Given the description of an element on the screen output the (x, y) to click on. 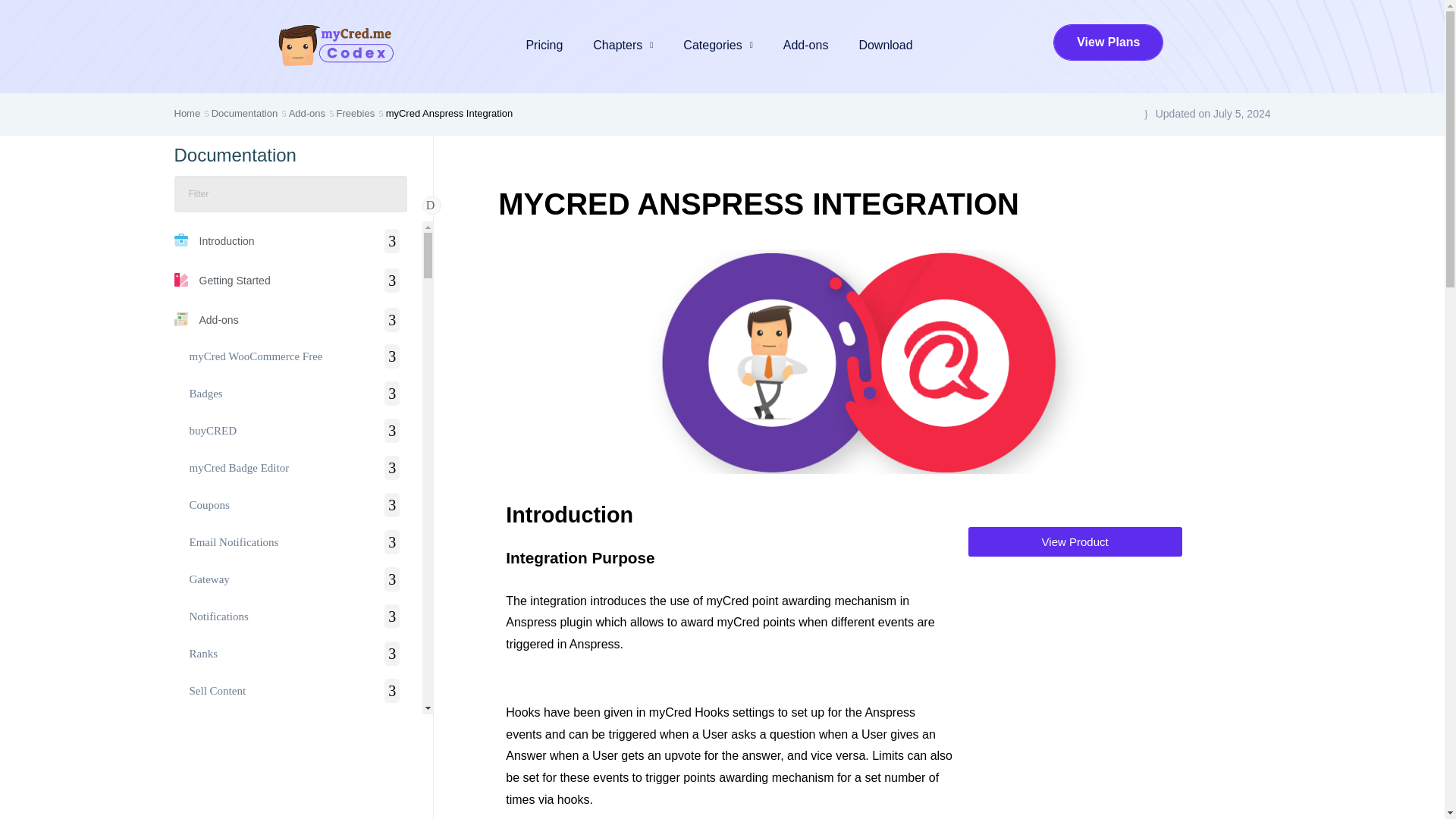
Chapters (623, 45)
Add-ons (806, 45)
Hide category (431, 205)
Download (885, 45)
Pricing (544, 45)
Categories (717, 45)
